Given the description of an element on the screen output the (x, y) to click on. 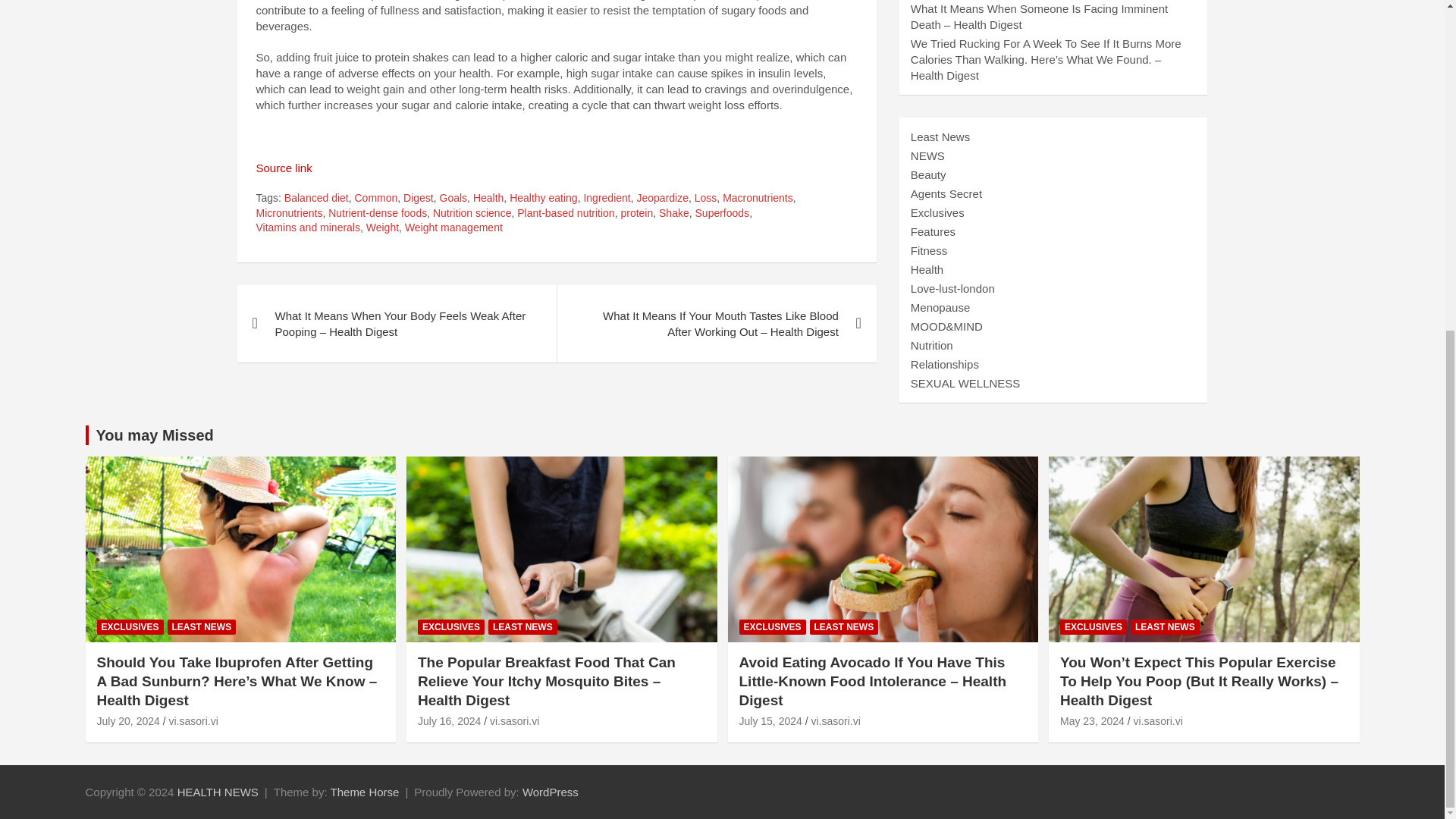
WordPress (550, 791)
Theme Horse (364, 791)
HEALTH NEWS (218, 791)
